Given the description of an element on the screen output the (x, y) to click on. 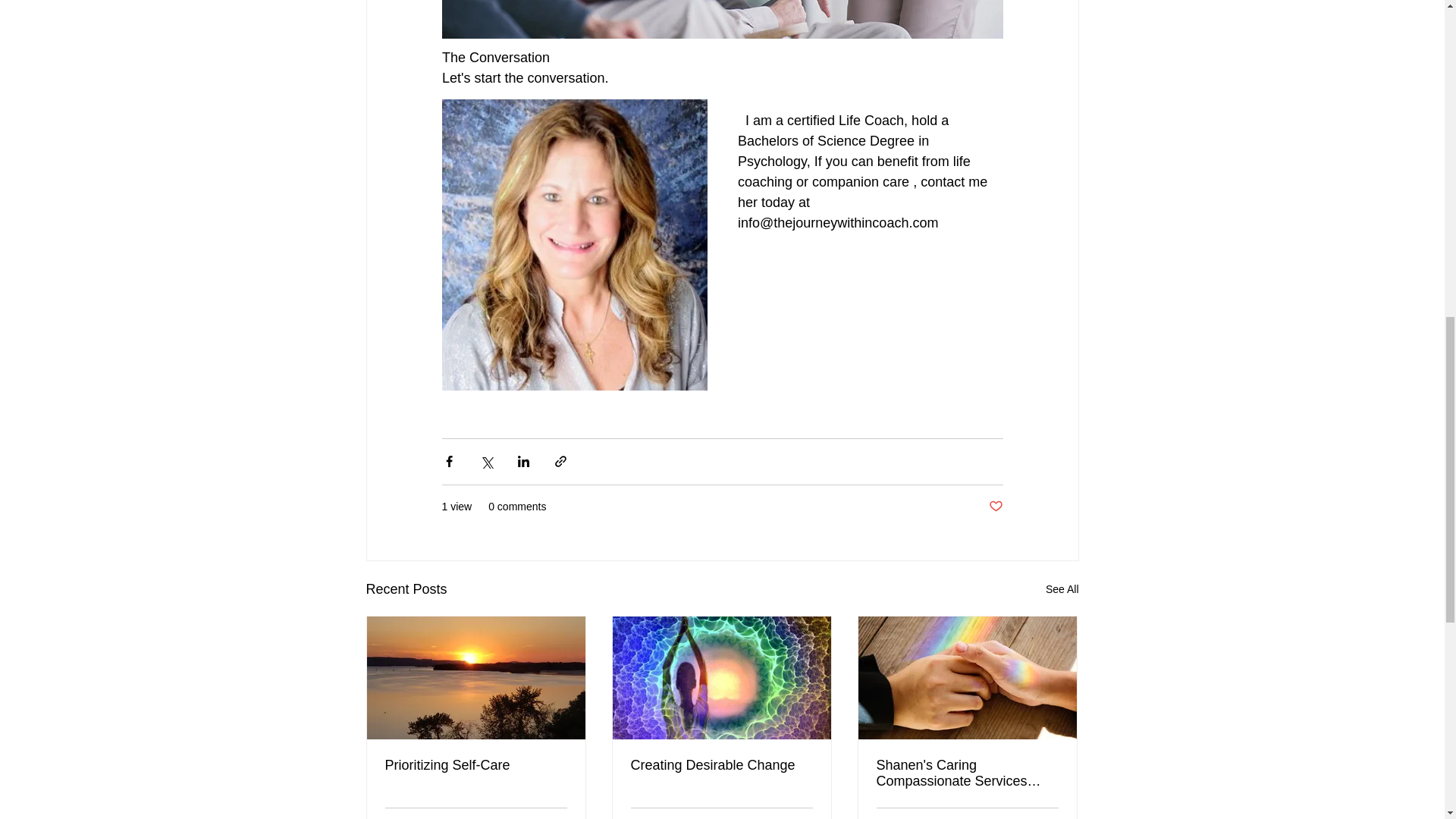
Creating Desirable Change (721, 765)
Post not marked as liked (995, 506)
Shanen's Caring Compassionate Services Testimonial (967, 773)
Prioritizing Self-Care (476, 765)
See All (1061, 589)
